Given the description of an element on the screen output the (x, y) to click on. 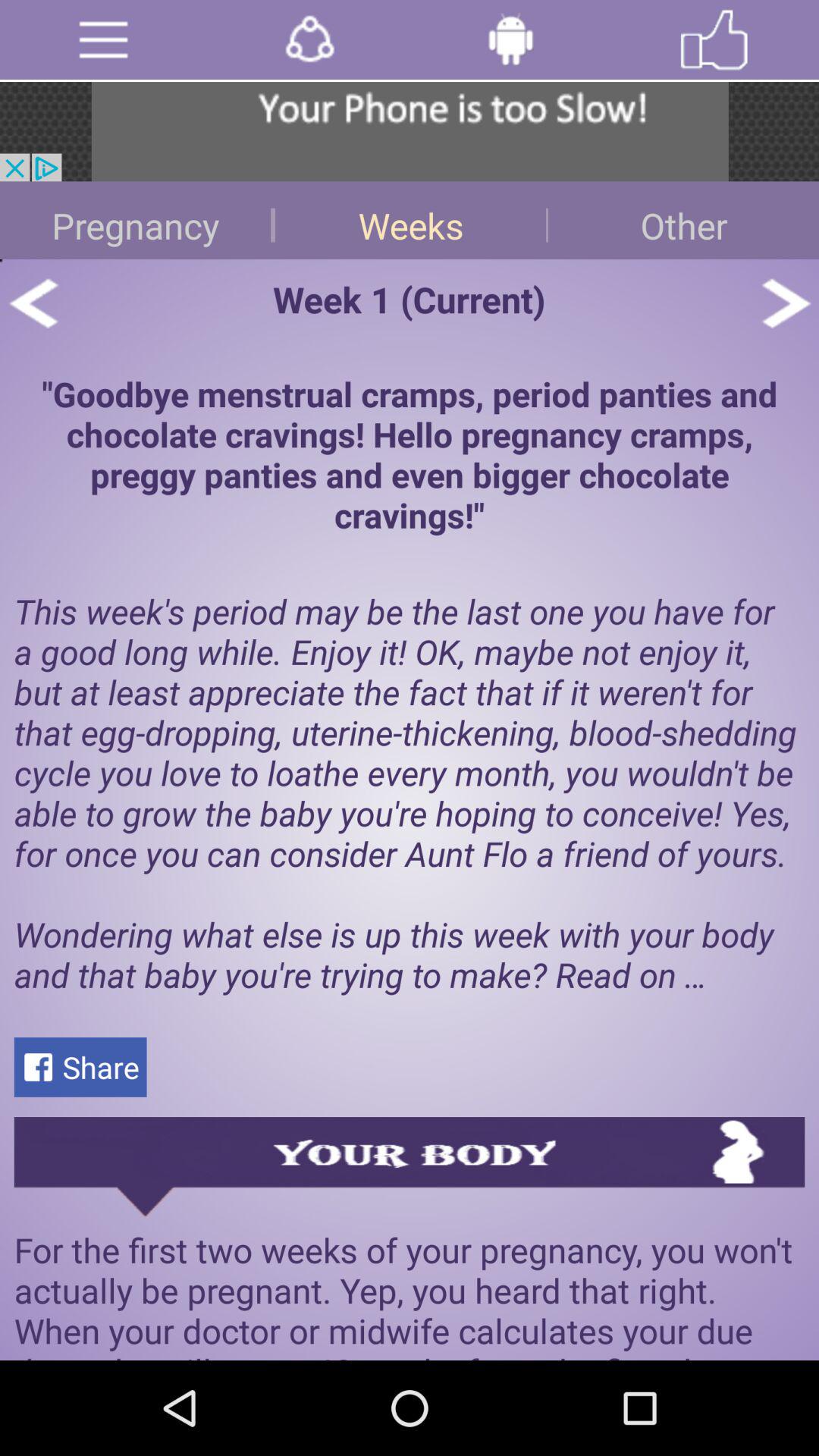
share it button (309, 39)
